Given the description of an element on the screen output the (x, y) to click on. 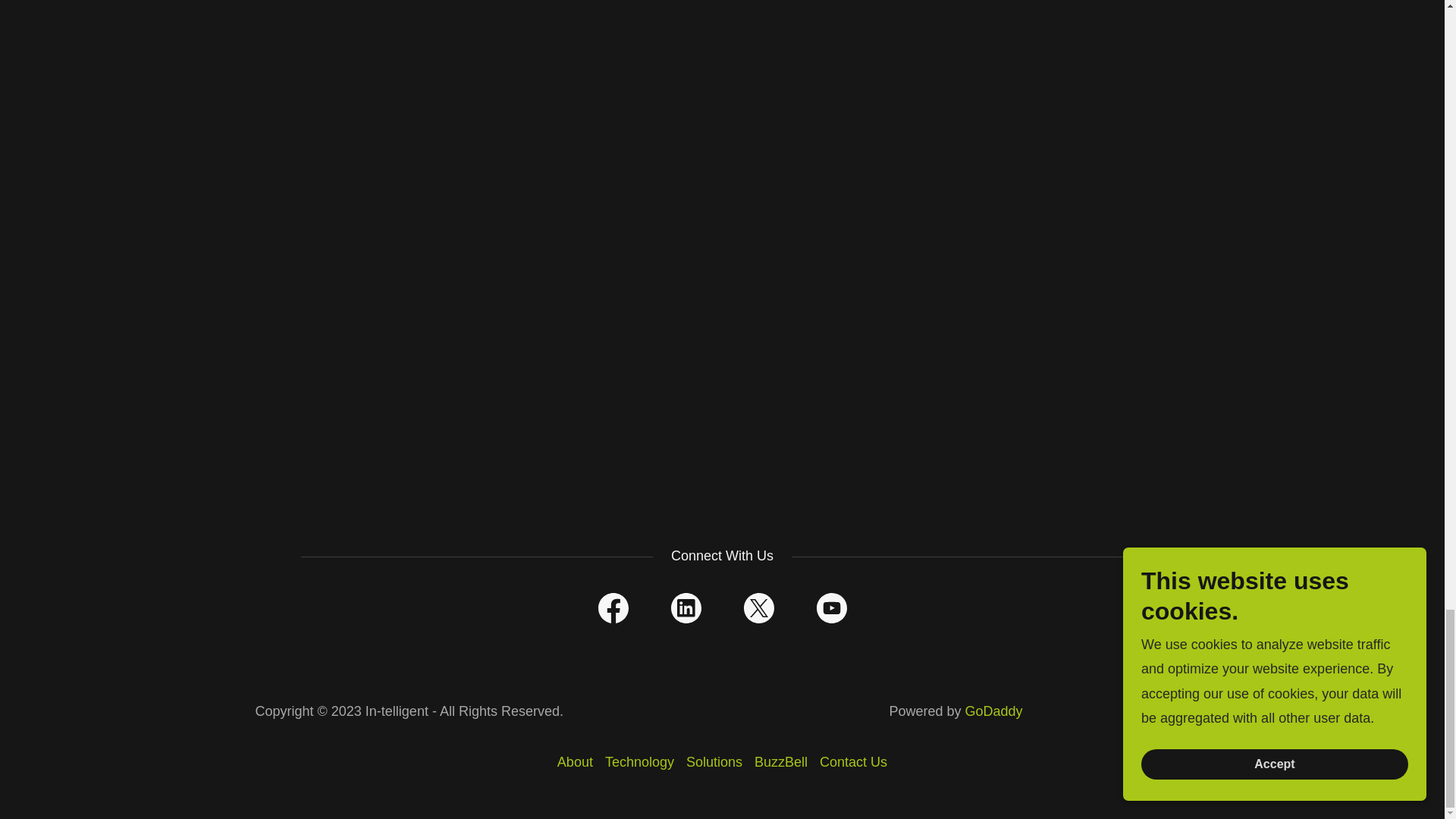
Contact Us (853, 762)
Technology (638, 762)
BuzzBell (780, 762)
About (574, 762)
Solutions (713, 762)
GoDaddy (992, 711)
